Given the description of an element on the screen output the (x, y) to click on. 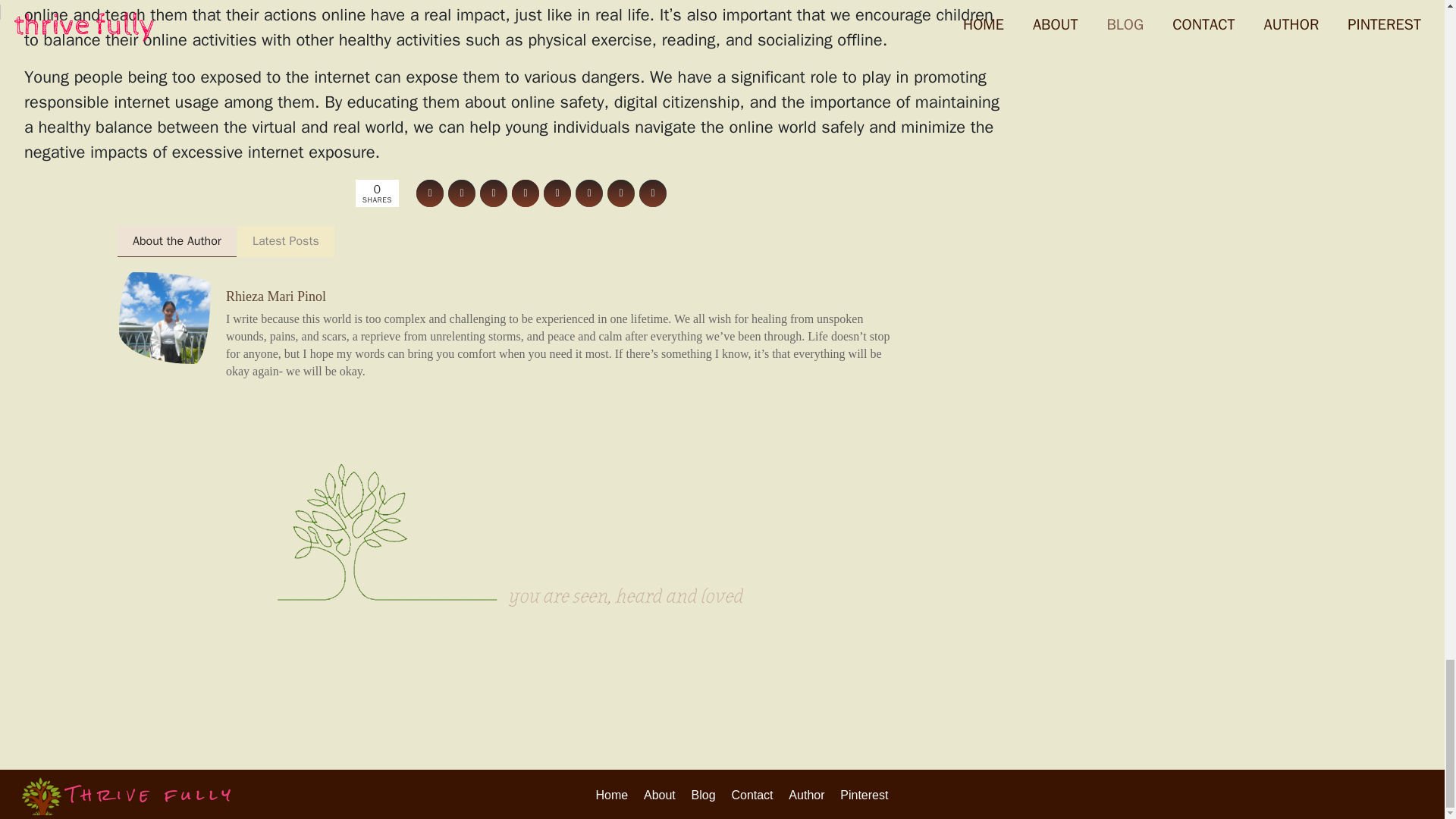
Pinterest (863, 795)
Contact (751, 795)
Rhieza Mari Pinol (275, 296)
Blog (703, 795)
Home (611, 795)
Author (806, 795)
About (659, 795)
